Given the description of an element on the screen output the (x, y) to click on. 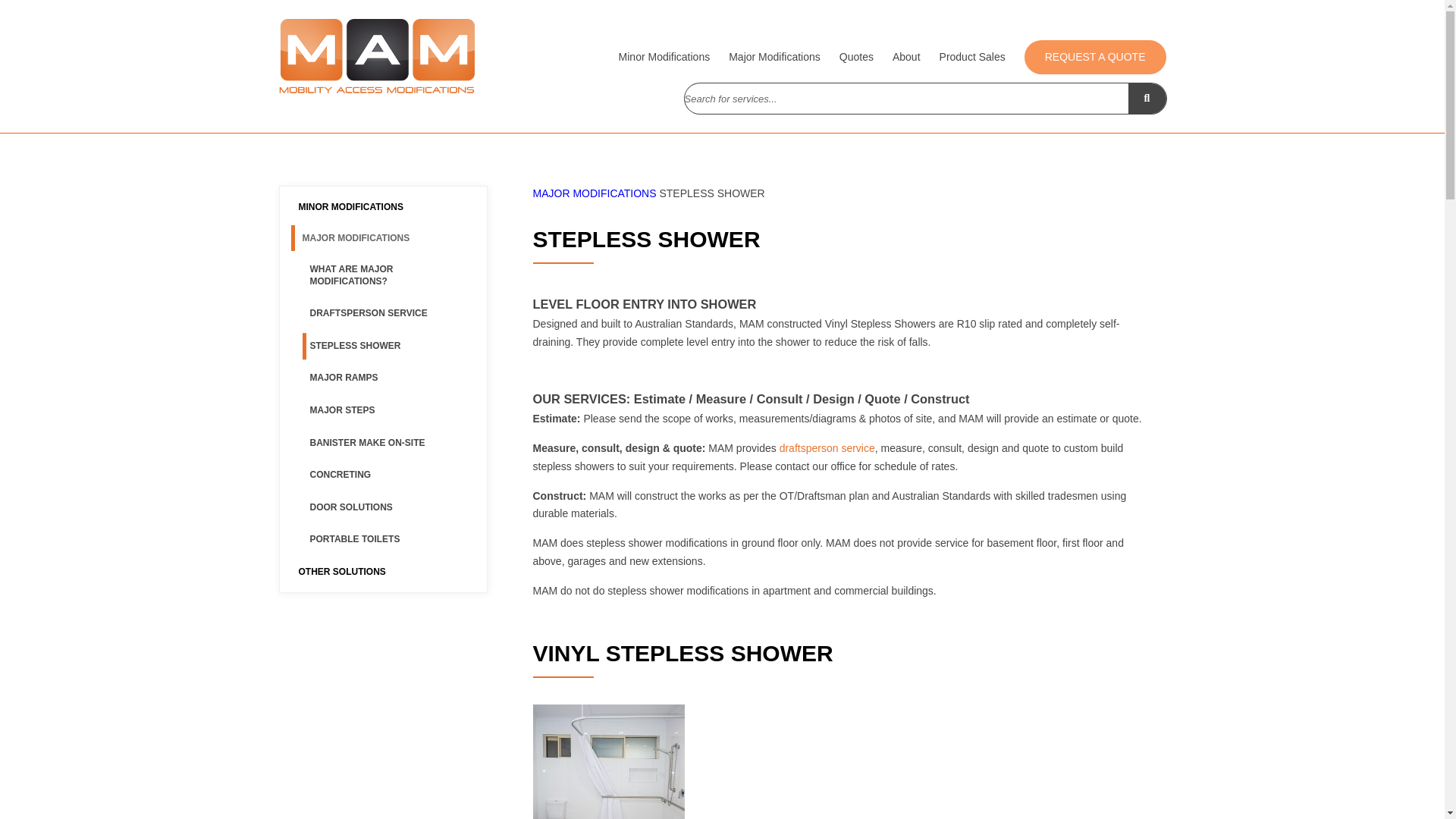
Mobility Access Modifications (376, 56)
